Given the description of an element on the screen output the (x, y) to click on. 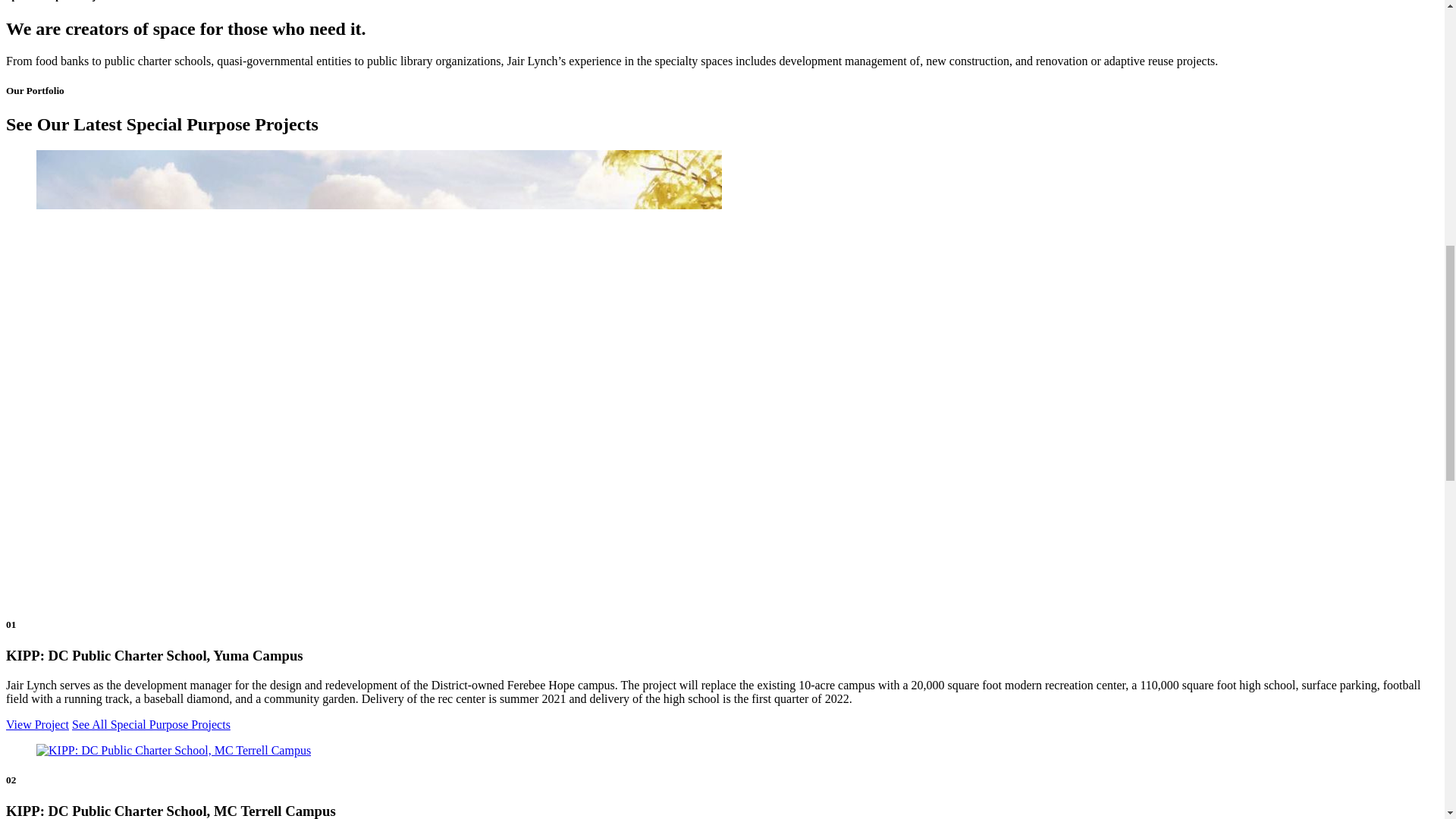
See All Special Purpose Projects (150, 724)
View Project (36, 724)
